Given the description of an element on the screen output the (x, y) to click on. 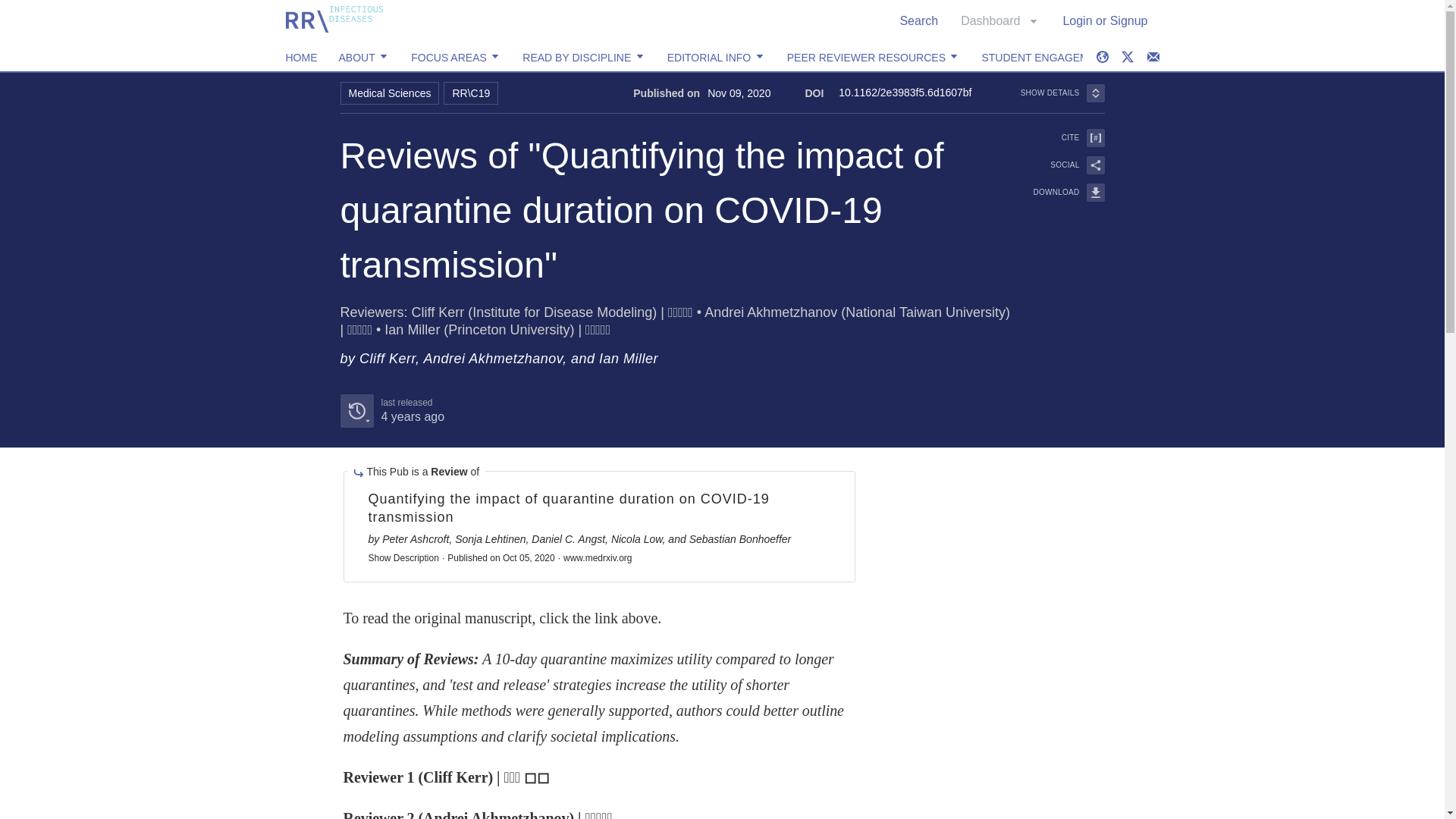
CITE (391, 410)
SUBSCRIBE (1058, 137)
SHOW DETAILS (1285, 57)
Medical Sciences (1062, 93)
Login or Signup (389, 92)
HOME (1104, 20)
Dashboard (301, 57)
WORK WITH US (1000, 20)
2020-11-09 06:25 (1186, 57)
Search (412, 416)
SOCIAL (918, 20)
DOWNLOAD (1058, 165)
